Given the description of an element on the screen output the (x, y) to click on. 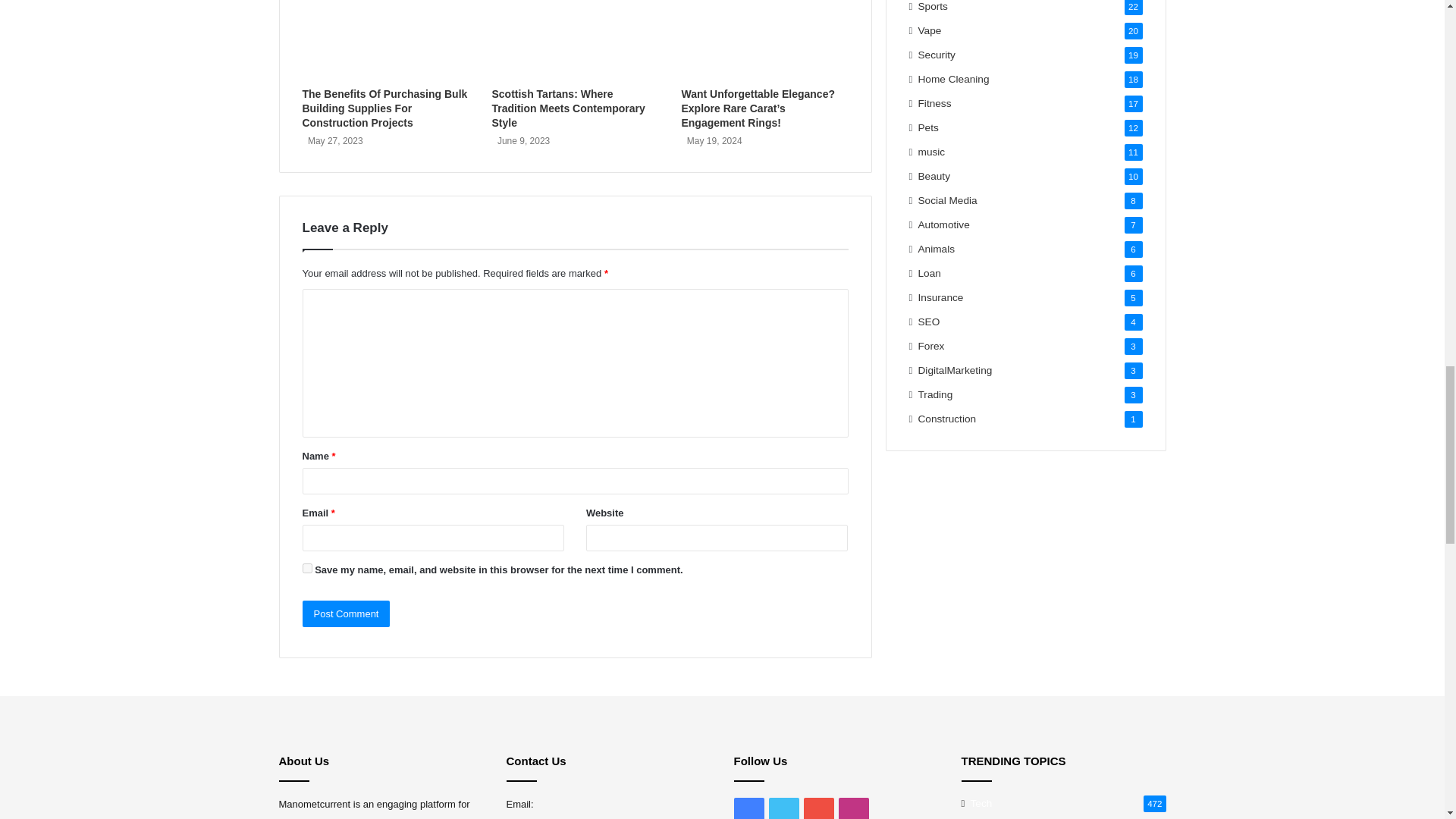
Post Comment (345, 613)
Scottish Tartans: Where Tradition Meets Contemporary Style (568, 107)
Post Comment (345, 613)
yes (306, 568)
